Given the description of an element on the screen output the (x, y) to click on. 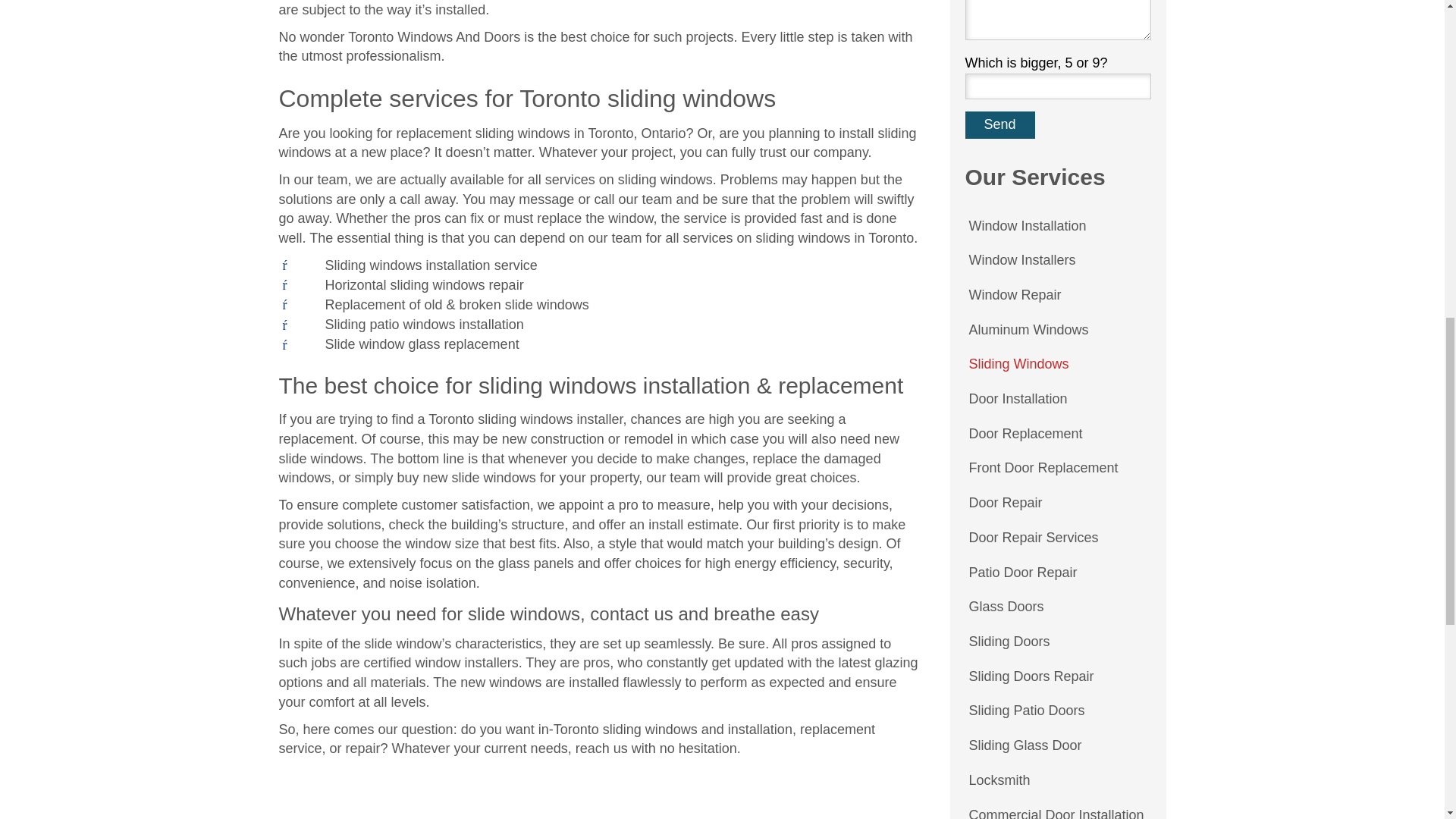
Sliding Windows (1018, 364)
Door Replacement (1024, 434)
Aluminum Windows (1027, 330)
Window Installation (1026, 226)
Send (998, 124)
Window Repair (1013, 295)
Send (998, 124)
Door Installation (1017, 399)
Front Door Replacement (1042, 468)
Window Installers (1021, 260)
